Given the description of an element on the screen output the (x, y) to click on. 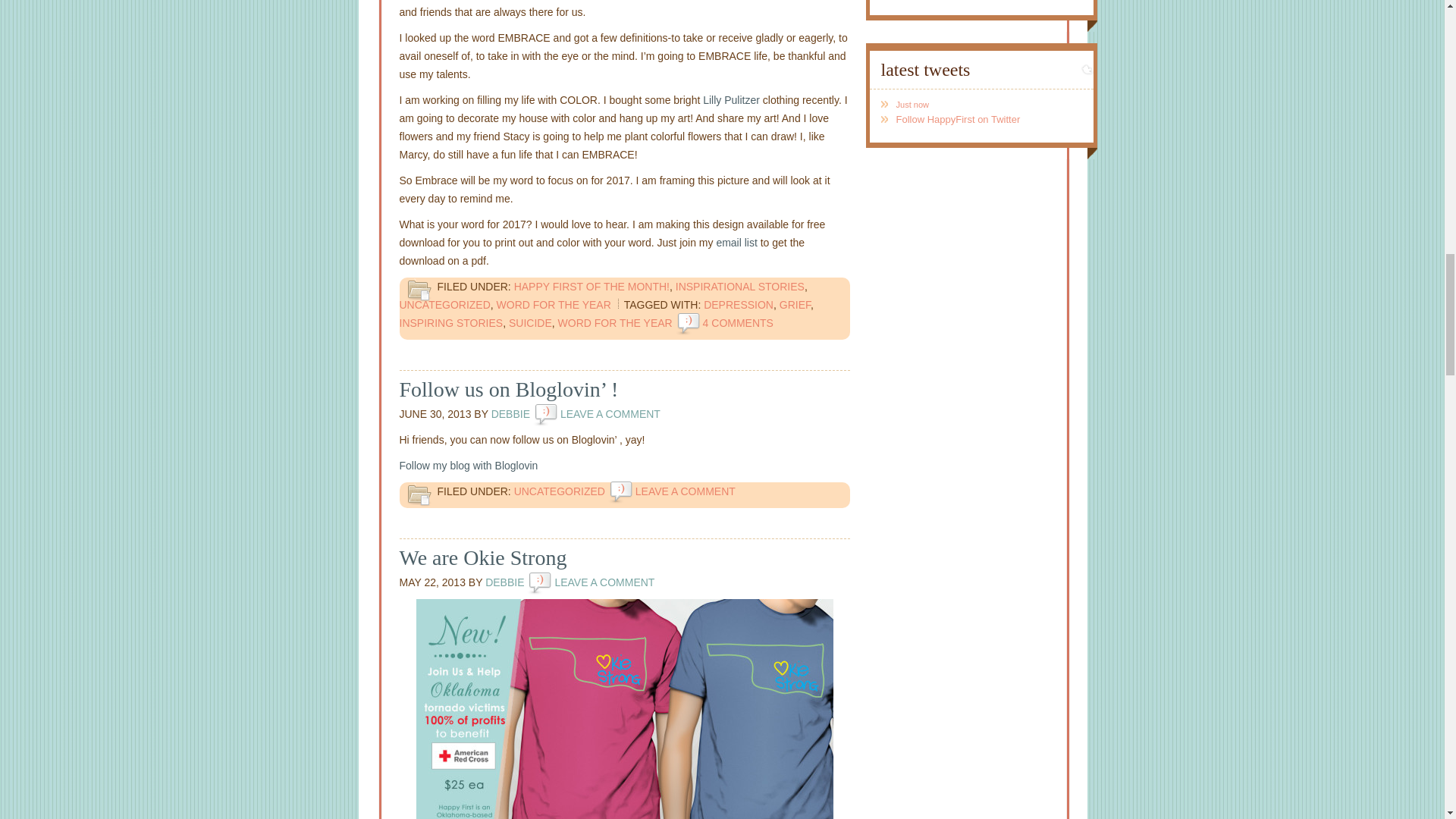
DEBBIE (510, 413)
WORD FOR THE YEAR (614, 322)
Follow my blog with Bloglovin (467, 465)
LEAVE A COMMENT (603, 582)
UNCATEGORIZED (443, 304)
We are Okie Strong (482, 557)
INSPIRING STORIES (450, 322)
HAPPY FIRST OF THE MONTH! (591, 286)
Lilly Pulitzer (731, 100)
LEAVE A COMMENT (684, 491)
